Given the description of an element on the screen output the (x, y) to click on. 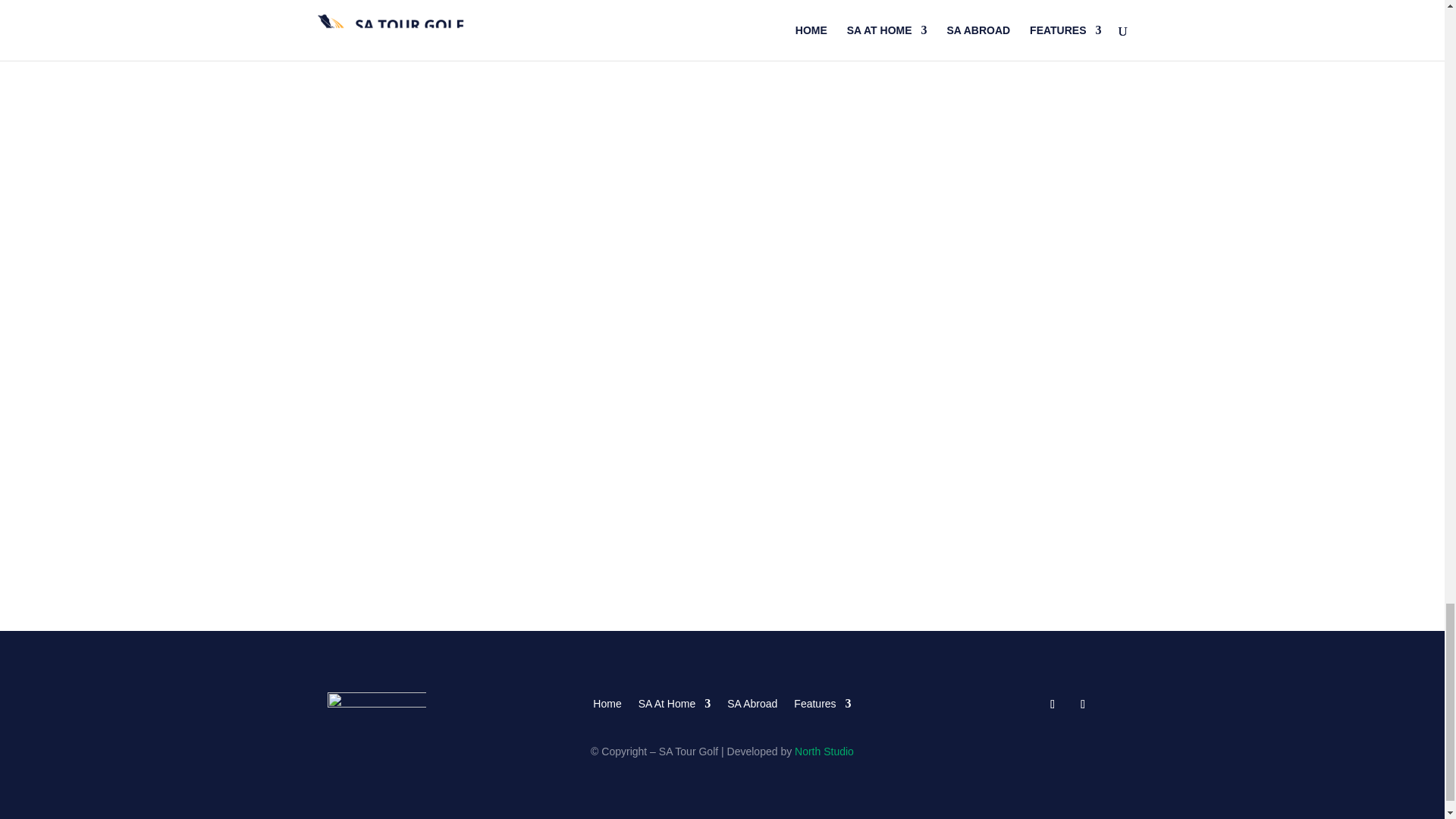
SA At Home (674, 700)
SA-Tour-Golf-Logo-Image6 (376, 706)
Follow on Facebook (1052, 704)
Home (606, 700)
SA Abroad (751, 700)
Follow on X (1082, 704)
